Given the description of an element on the screen output the (x, y) to click on. 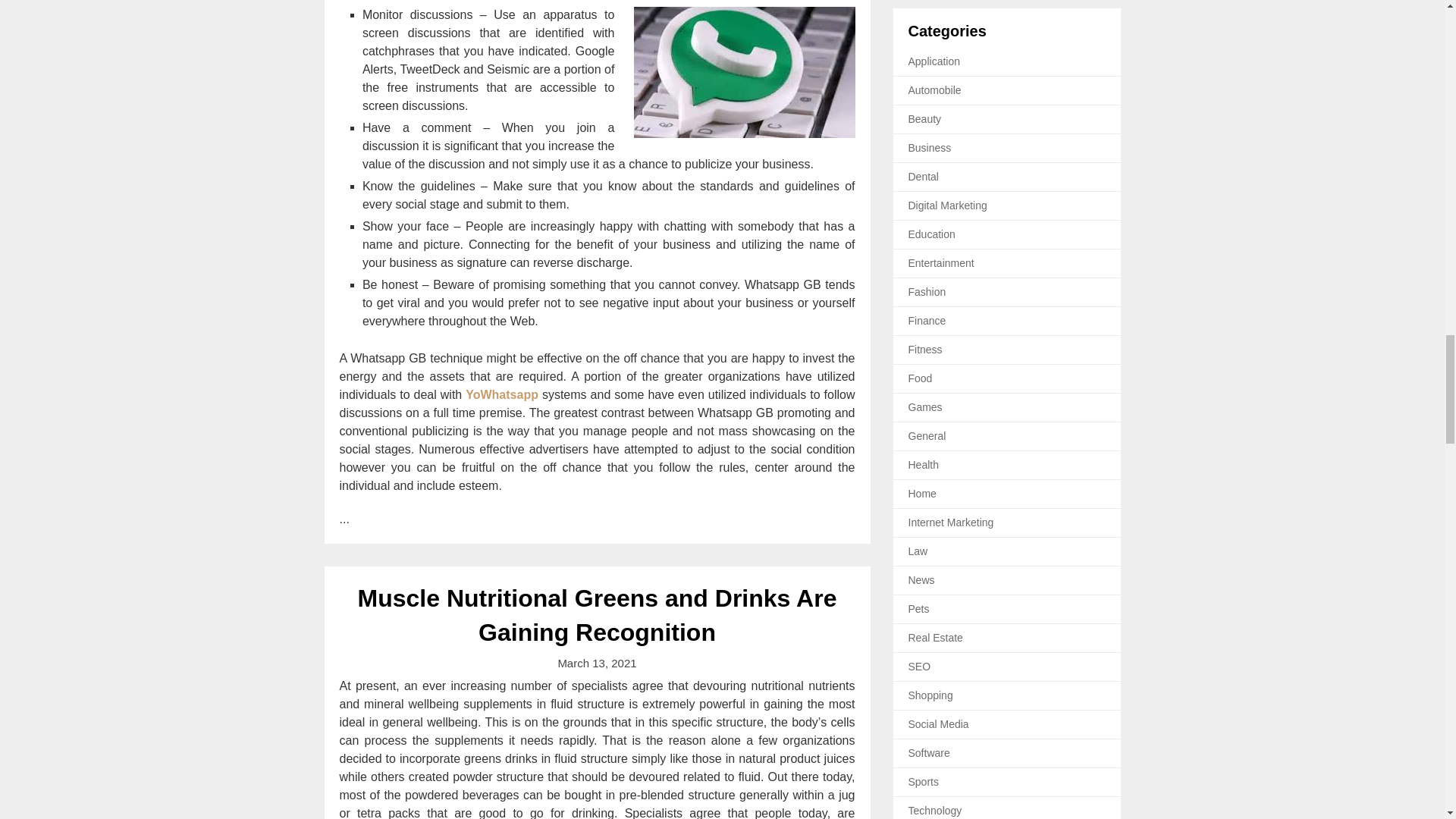
YoWhatsapp (501, 394)
Muscle Nutritional Greens and Drinks Are Gaining Recognition (597, 615)
Muscle Nutritional Greens and Drinks Are Gaining Recognition (597, 615)
